Given the description of an element on the screen output the (x, y) to click on. 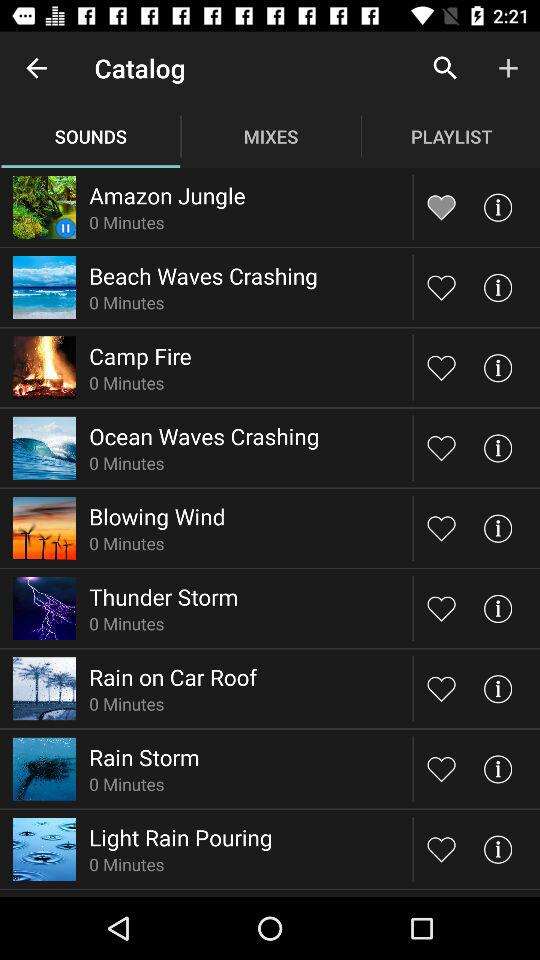
open information (498, 527)
